Given the description of an element on the screen output the (x, y) to click on. 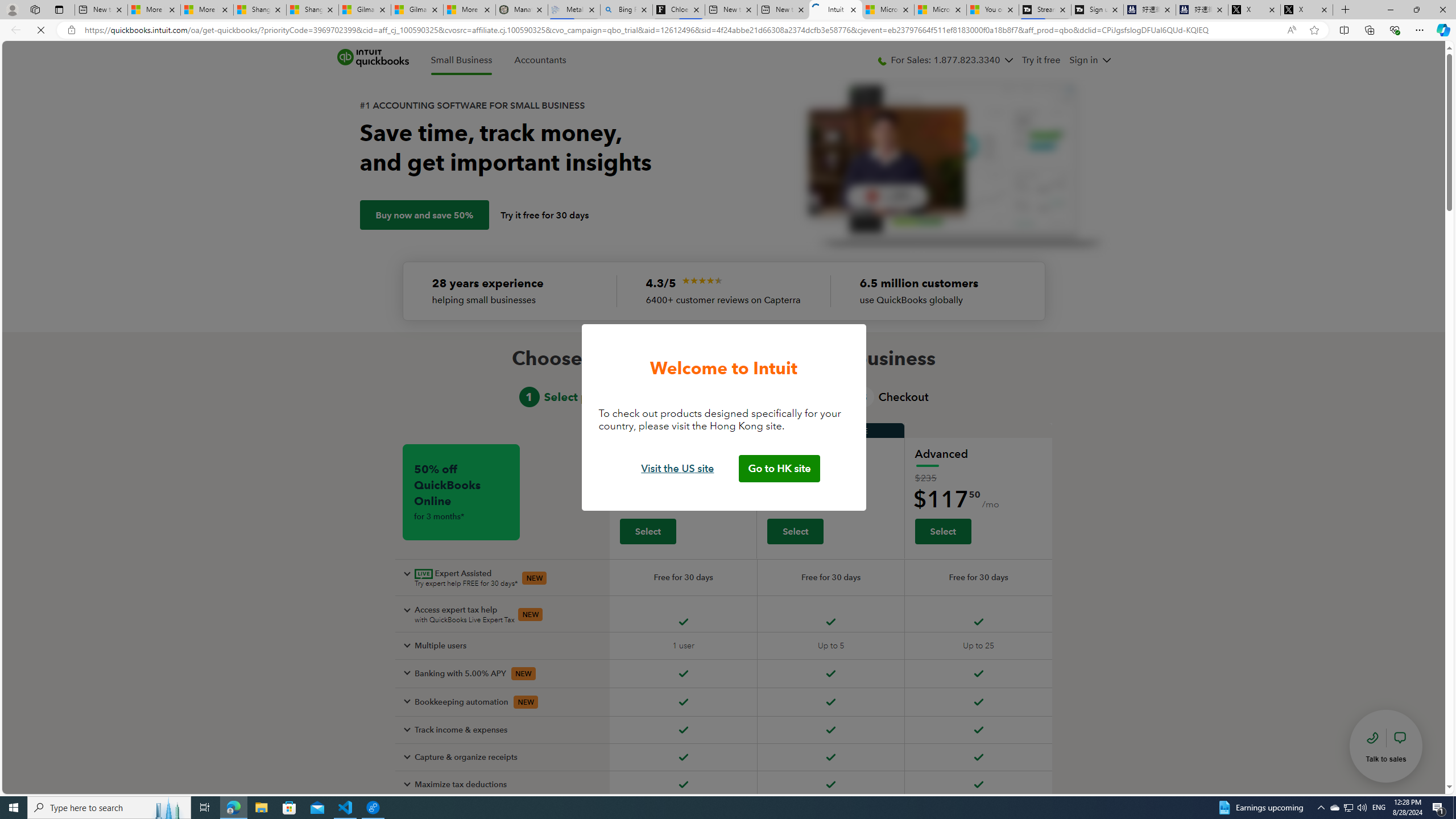
Sign in (1082, 60)
Accountants (539, 60)
Small Business (461, 60)
